Given the description of an element on the screen output the (x, y) to click on. 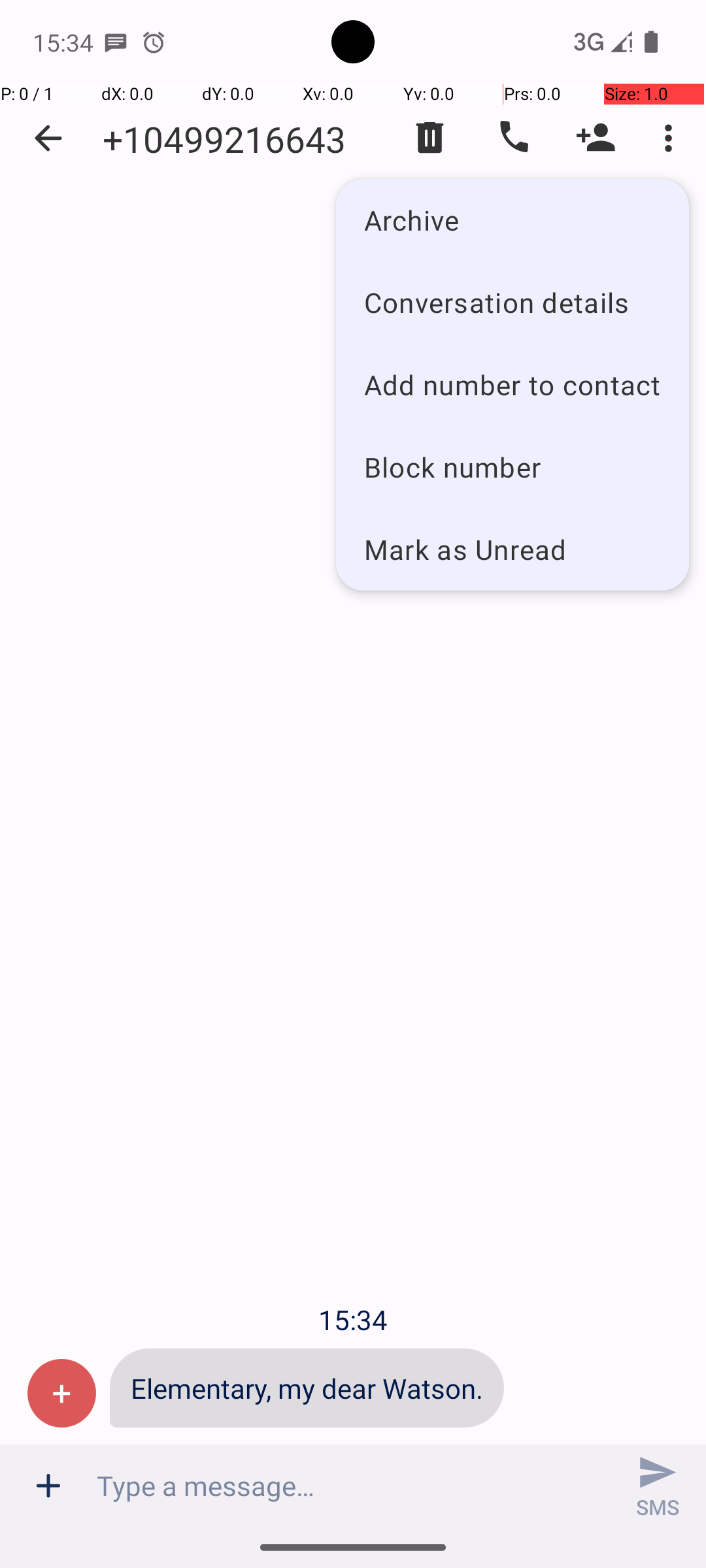
Archive Element type: android.widget.TextView (512, 219)
Conversation details Element type: android.widget.TextView (512, 301)
Add number to contact Element type: android.widget.TextView (512, 384)
Block number Element type: android.widget.TextView (512, 466)
Mark as Unread Element type: android.widget.TextView (512, 548)
